Given the description of an element on the screen output the (x, y) to click on. 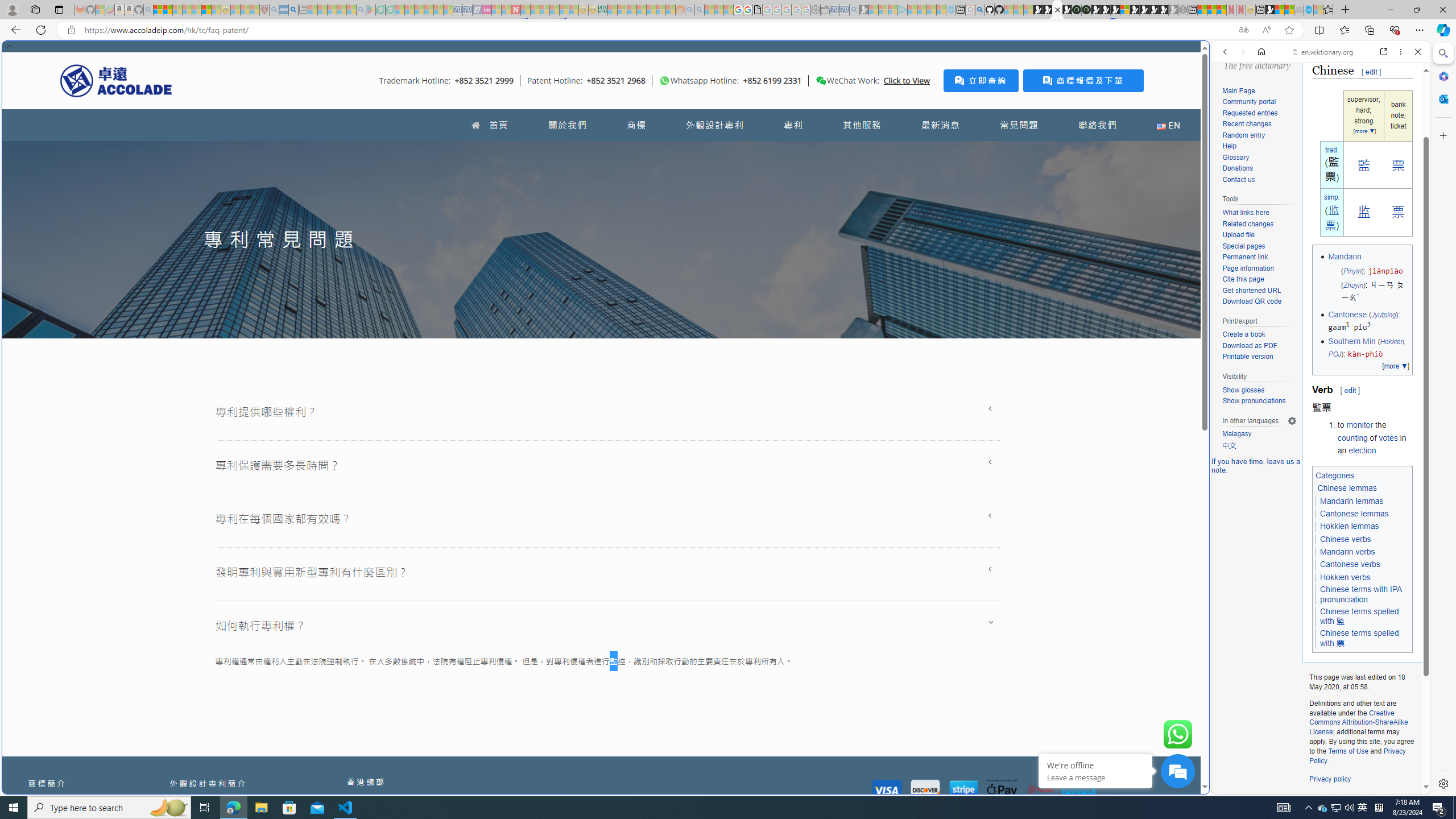
votes (1387, 437)
Mandarin verbs (1347, 552)
Recent changes (1259, 124)
Printable version (1259, 356)
